Given the description of an element on the screen output the (x, y) to click on. 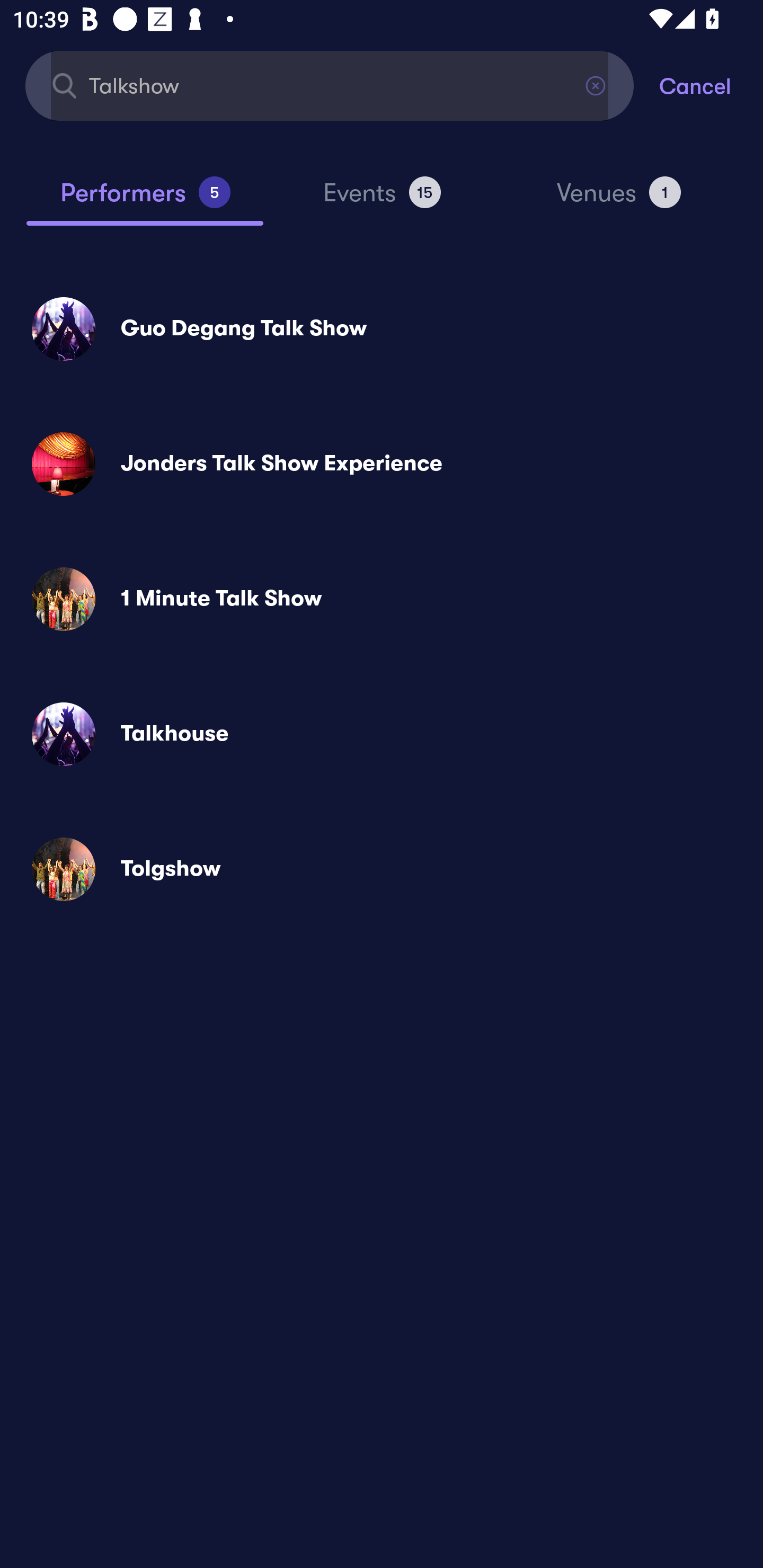
Talkshow Find (329, 85)
Talkshow Find (329, 85)
Cancel (711, 85)
Performers 5 (144, 200)
Events 15 (381, 200)
Venues 1 (618, 200)
Guo Degang Talk Show (381, 328)
Jonders Talk Show Experience (381, 464)
1 Minute Talk Show (381, 598)
Talkhouse (381, 734)
Tolgshow (381, 869)
